Given the description of an element on the screen output the (x, y) to click on. 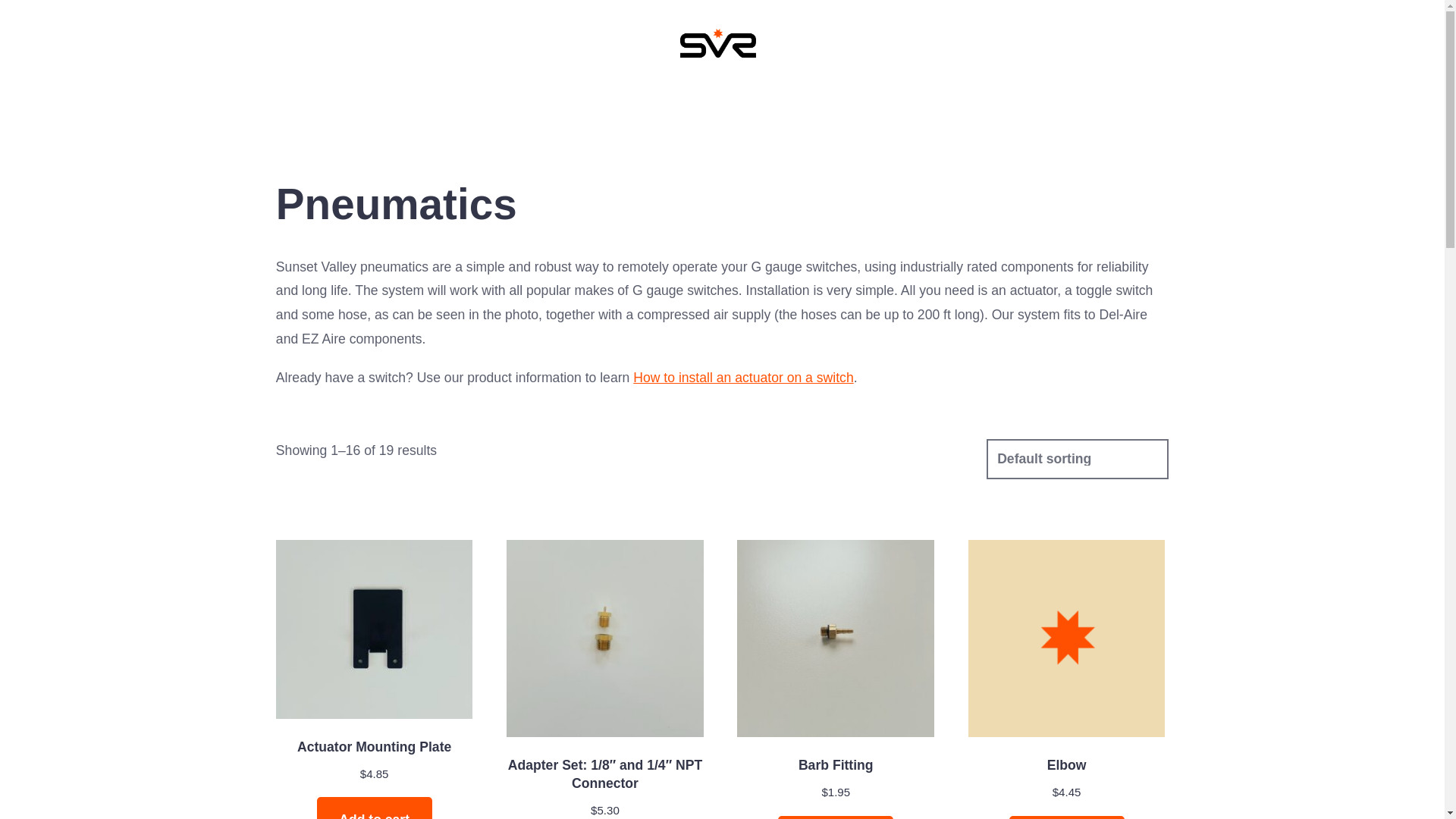
Roundhouse Engineering (691, 106)
How to install an actuator on a switch (743, 377)
Sunset Valley Railroad (716, 71)
Search Toggle (70, 72)
Add to cart (374, 807)
Contact (1026, 106)
Shop (400, 106)
Classified Ads (852, 106)
Add to cart (835, 817)
About (949, 106)
Add to cart (1066, 817)
Product Information (513, 106)
